Given the description of an element on the screen output the (x, y) to click on. 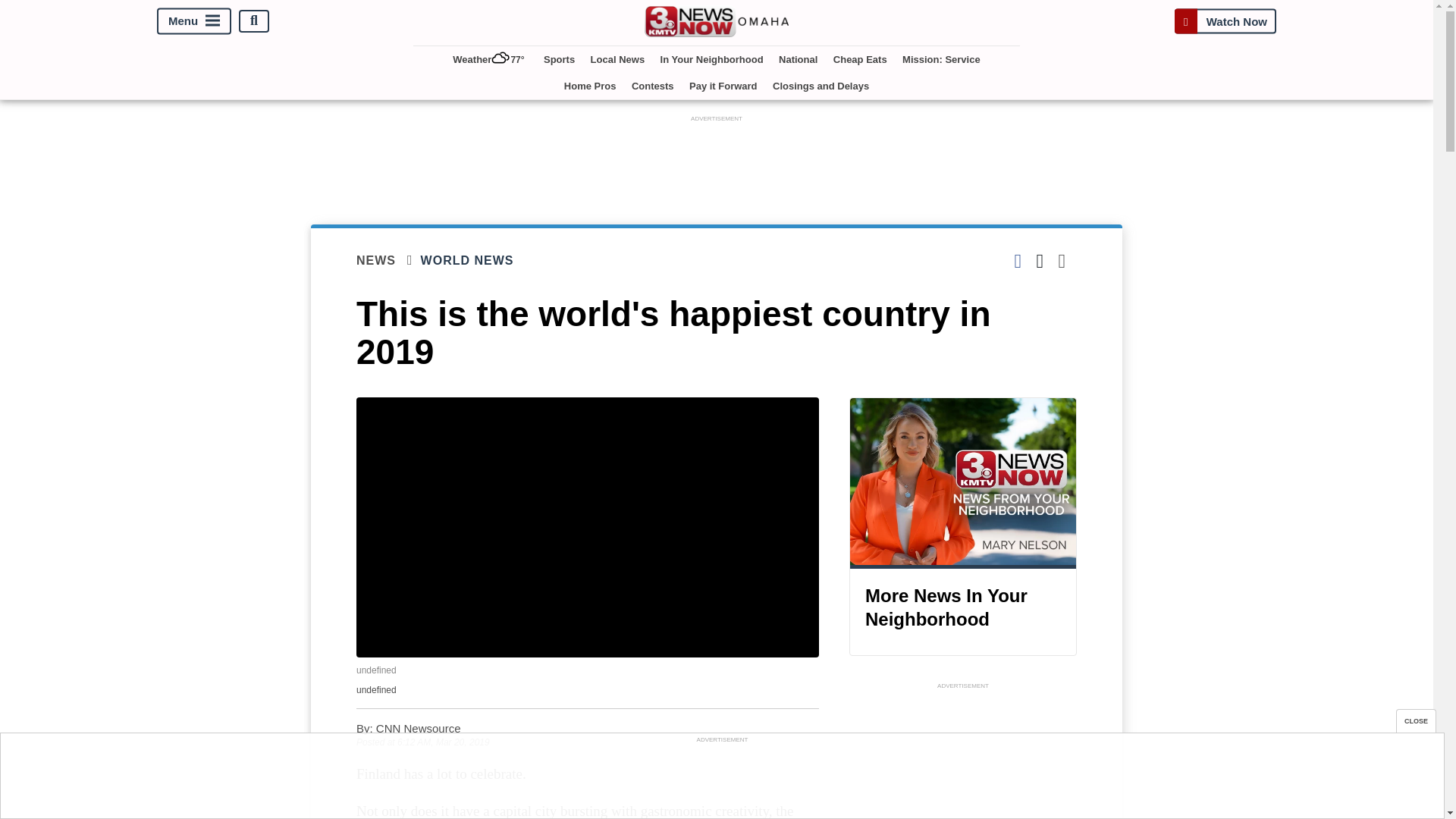
3rd party ad content (962, 755)
3rd party ad content (716, 160)
Watch Now (1224, 20)
Menu (194, 20)
3rd party ad content (721, 780)
